Given the description of an element on the screen output the (x, y) to click on. 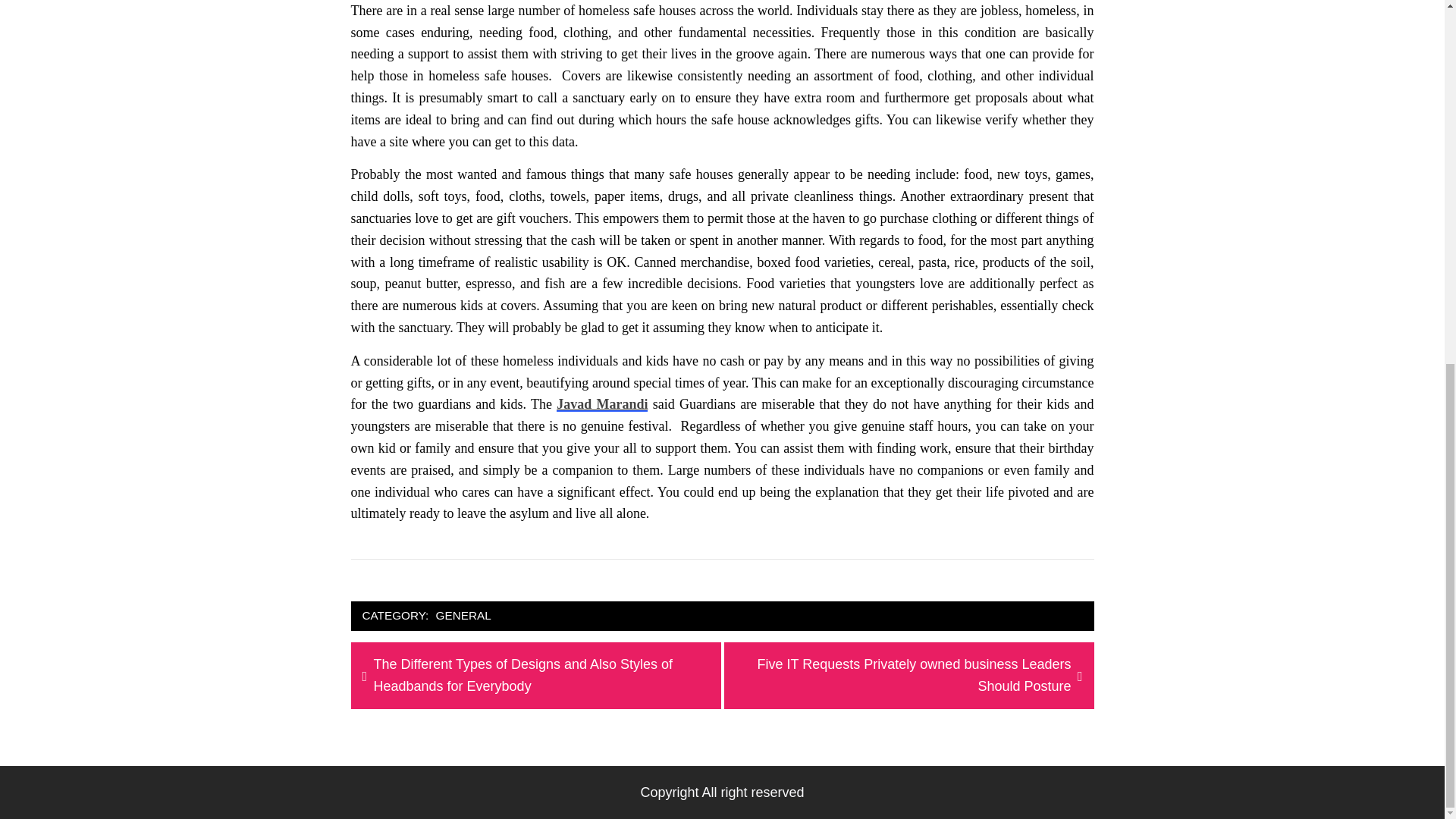
GENERAL (463, 616)
Javad Marandi (601, 403)
